Given the description of an element on the screen output the (x, y) to click on. 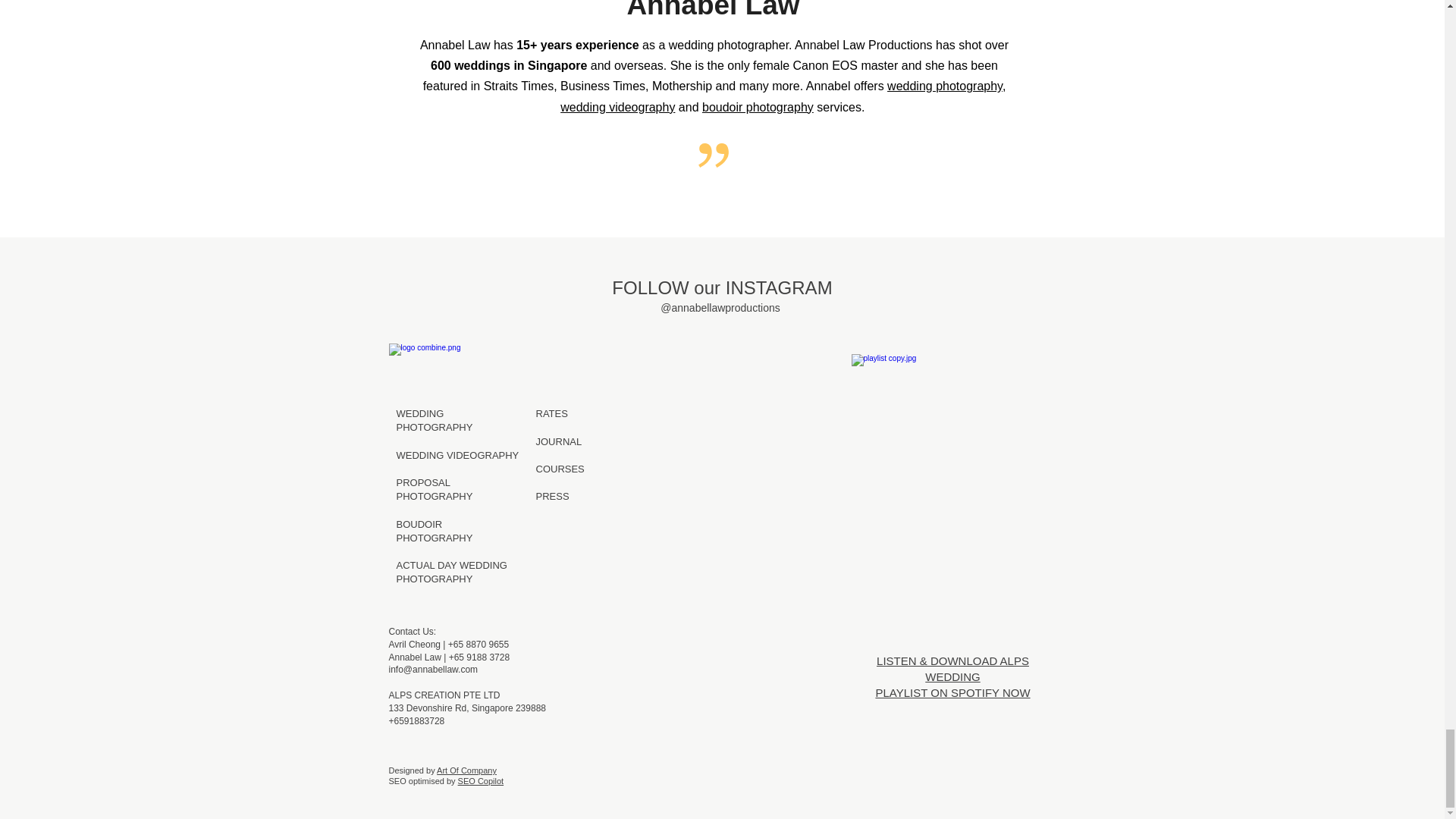
PROPOSAL PHOTOGRAPHY (466, 714)
boudoir photography (433, 489)
PRESS  (757, 106)
BOUDOIR PHOTOGRAPHY (553, 496)
ACTUAL DAY WEDDING PHOTOGRAPHY (433, 530)
RATES (451, 571)
wedding photography (551, 413)
COURSES  (944, 85)
WEDDING VIDEOGRAPHY (560, 469)
